Given the description of an element on the screen output the (x, y) to click on. 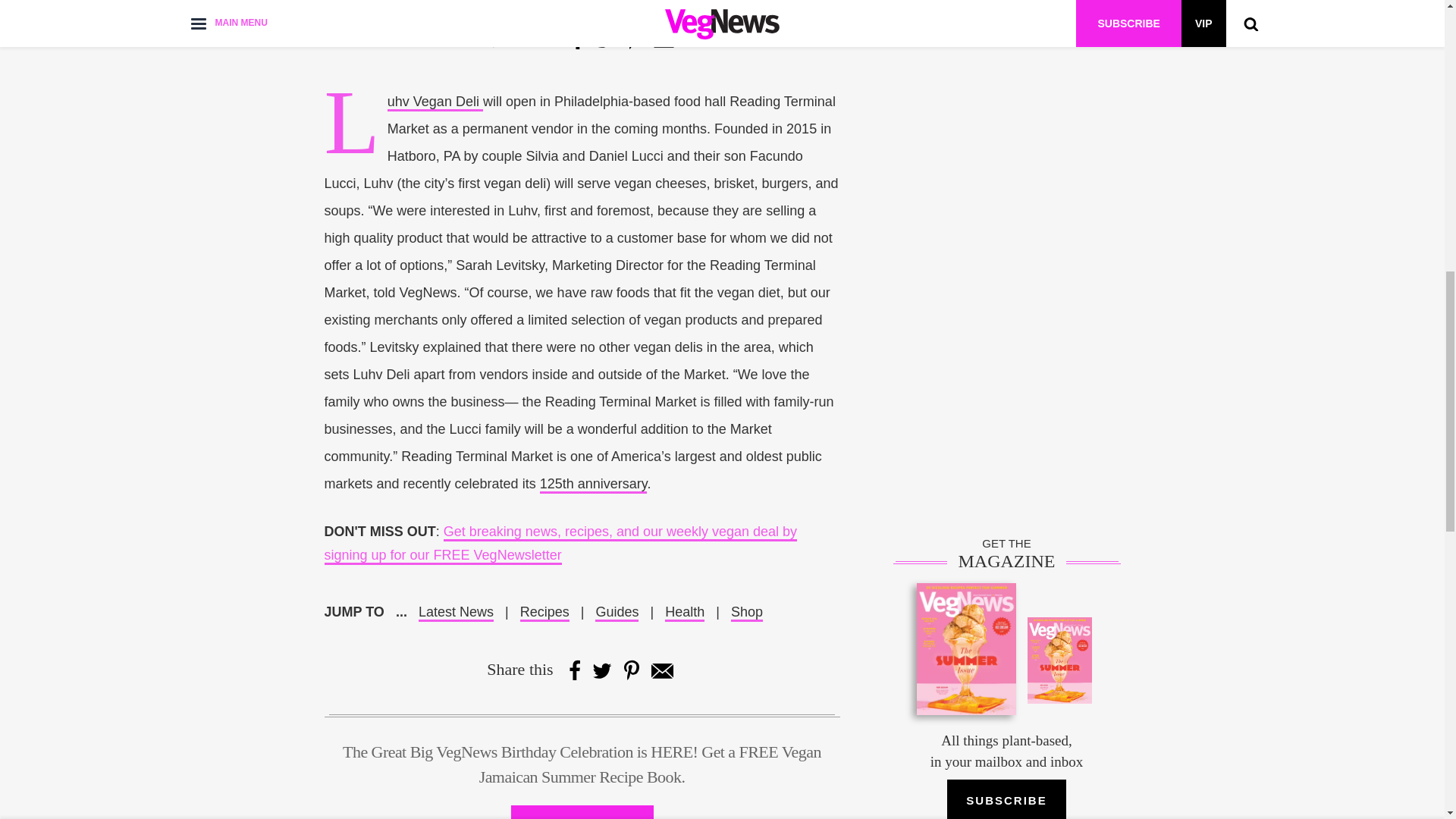
Share article on Twitter (604, 38)
Share article via email (663, 38)
Share article on Twitter (601, 670)
Share article via email (661, 670)
